Given the description of an element on the screen output the (x, y) to click on. 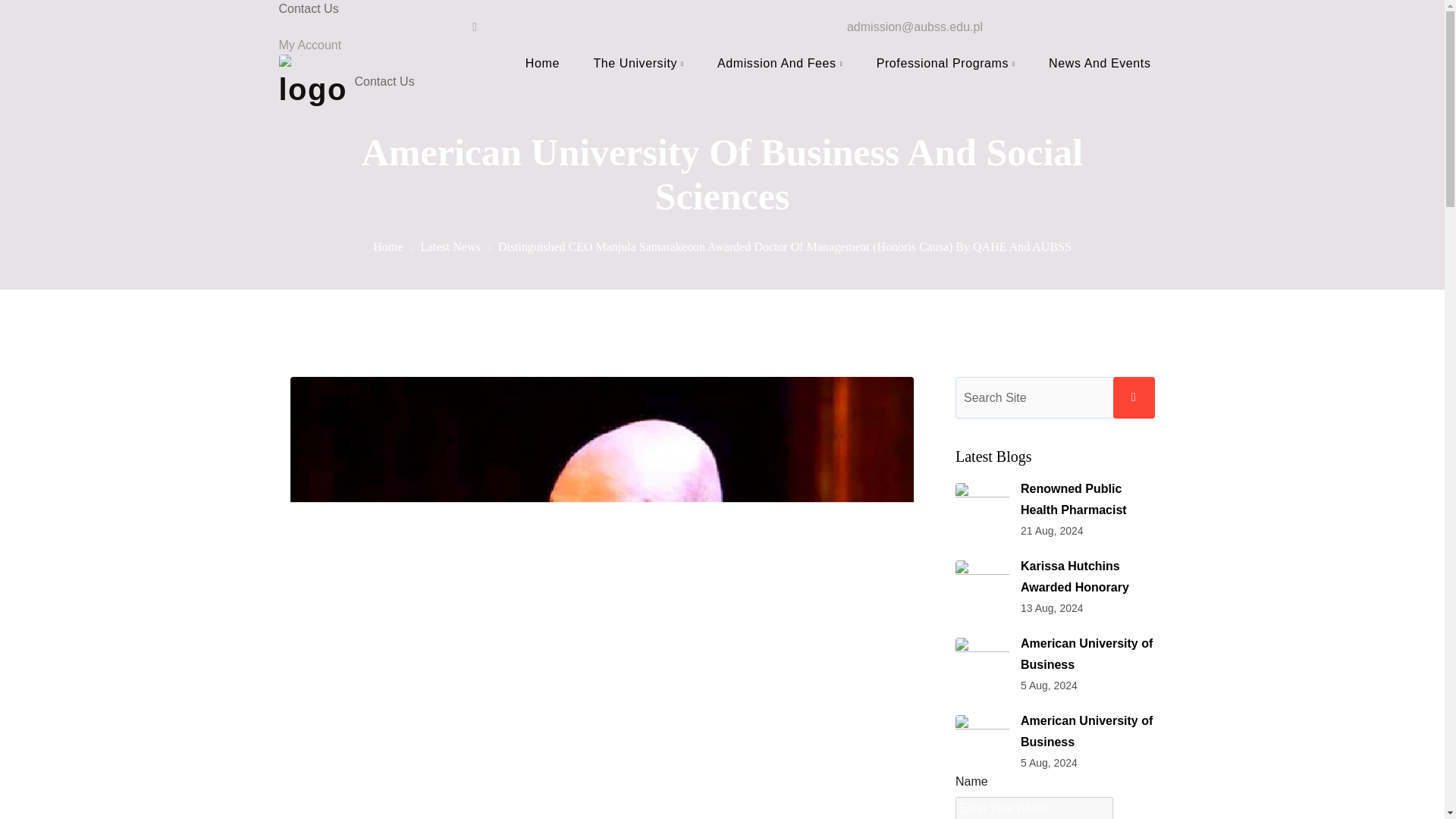
Contact Us (722, 81)
Home (387, 246)
Contact Us (722, 9)
Latest News (450, 246)
News And Events (1099, 63)
The University (637, 63)
Admission And Fees (780, 63)
My Account (310, 44)
Professional Programs (945, 63)
